Given the description of an element on the screen output the (x, y) to click on. 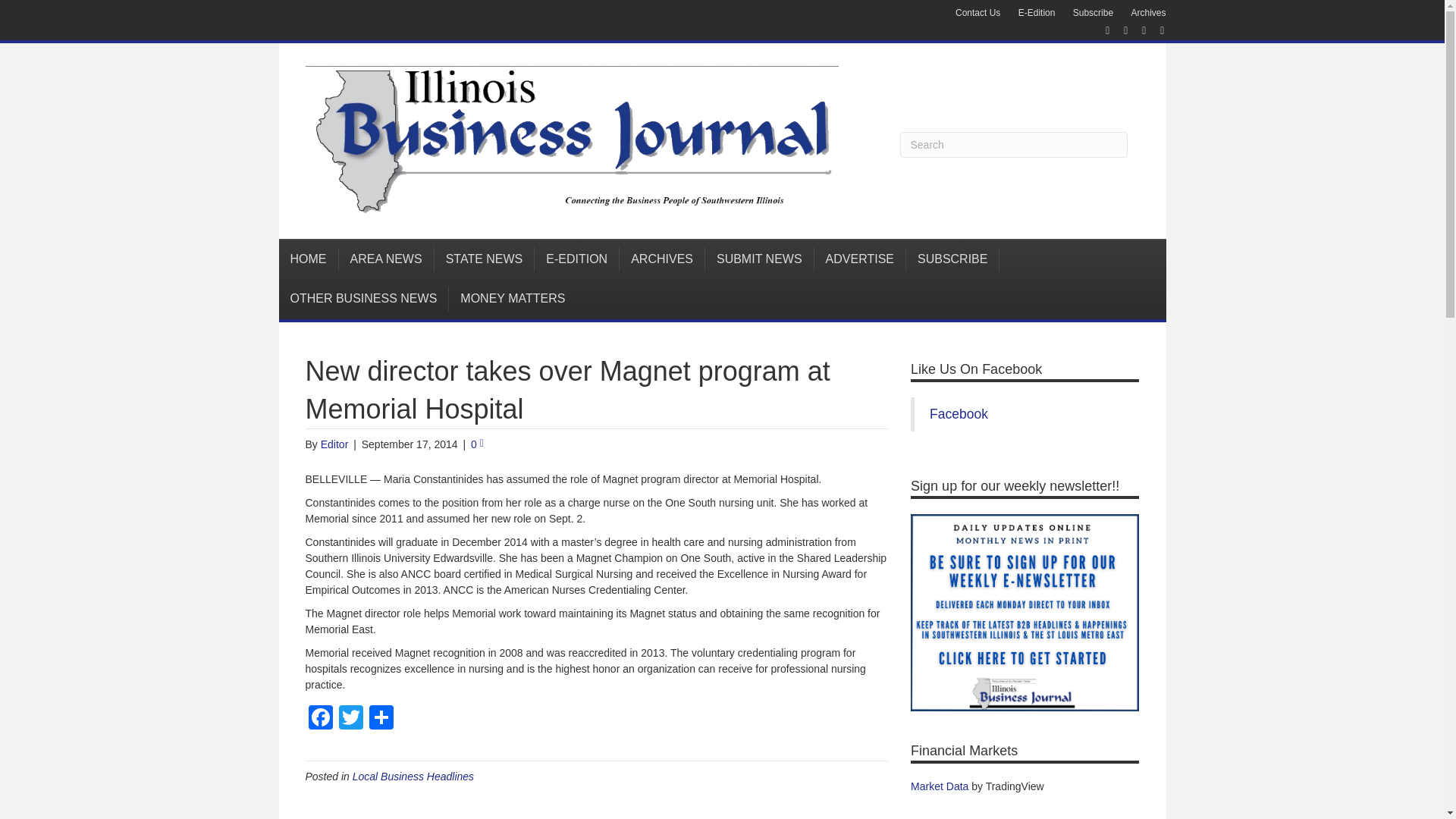
Linkedin (1135, 30)
Contact Us (977, 13)
STATE NEWS (484, 259)
E-EDITION (577, 259)
OTHER BUSINESS NEWS (364, 298)
Twitter (349, 719)
0 (476, 444)
E-Edition (1036, 13)
HOME (309, 259)
SUBMIT NEWS (758, 259)
Local Business Headlines (413, 776)
Twitter (349, 719)
Subscribe (1093, 13)
SUBSCRIBE (951, 259)
ARCHIVES (662, 259)
